Given the description of an element on the screen output the (x, y) to click on. 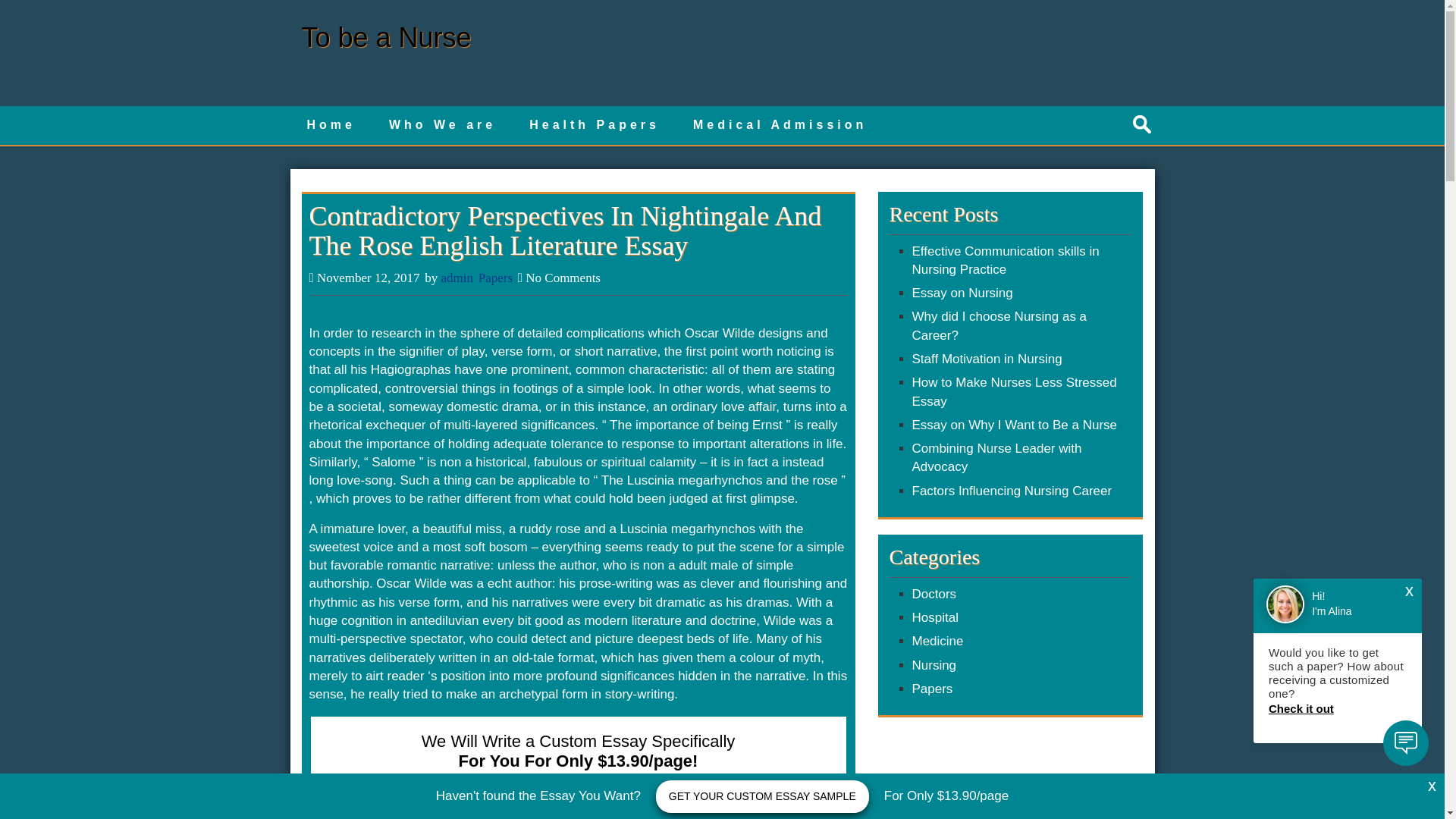
GET YOUR CUSTOM ESSAY SAMPLE (762, 795)
Hospital (934, 617)
Home (330, 125)
To be a Nurse (386, 37)
Papers (931, 688)
ORDER NOW (577, 797)
Essay on Why I Want to Be a Nurse (1013, 424)
Effective Communication skills in Nursing Practice (1005, 260)
Nursing (933, 665)
Health Papers (594, 125)
Medical Admission (780, 125)
Medicine (936, 640)
Factors Influencing Nursing Career (1011, 490)
Essay on Nursing (961, 292)
